Given the description of an element on the screen output the (x, y) to click on. 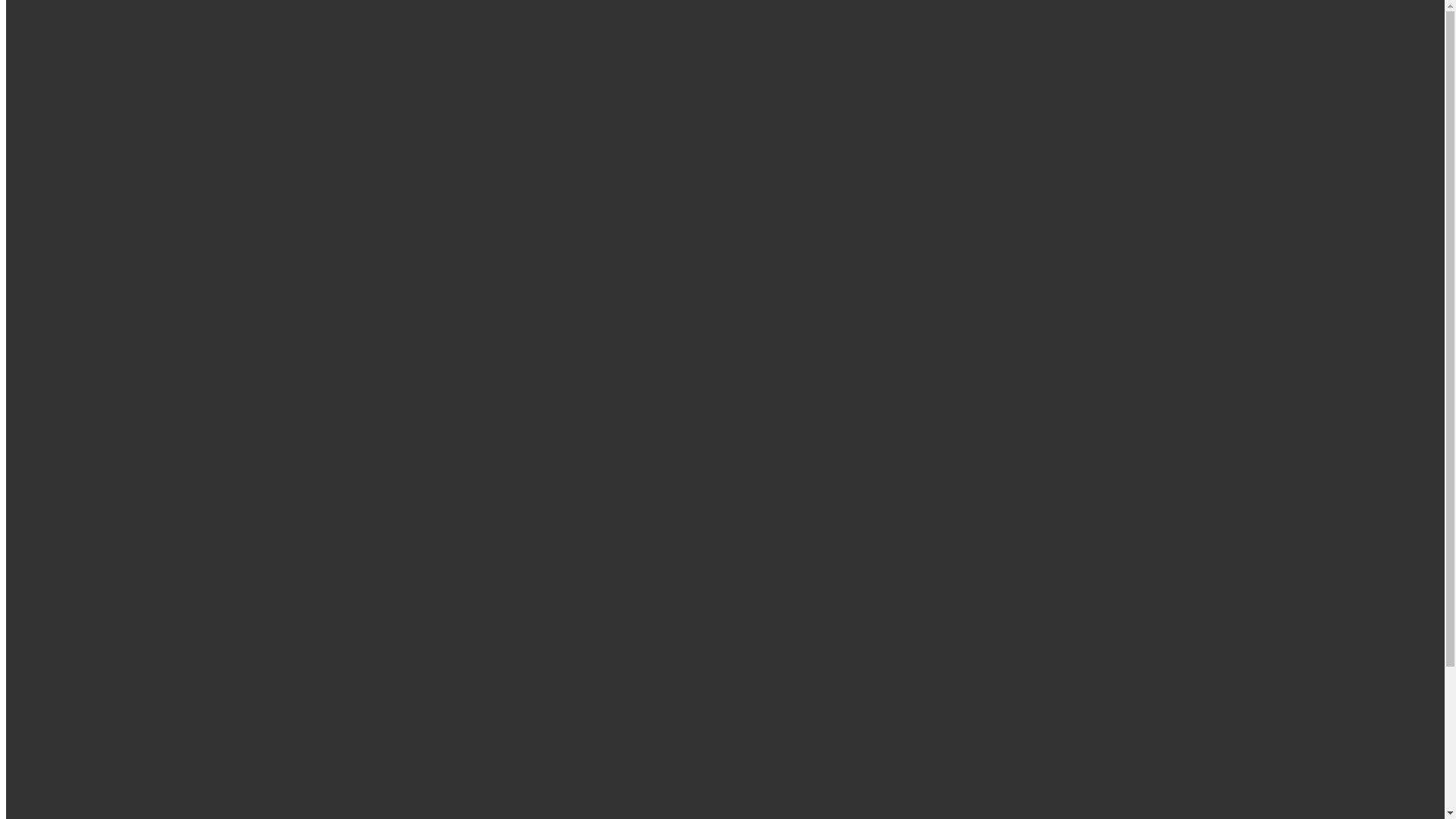
DI Element type: text (72, 280)
ATLAS Element type: text (85, 253)
Skip to main content Element type: text (6, 15)
AGS Element type: text (48, 580)
CERN Accelerating science Element type: text (147, 29)
AGS Element type: text (78, 225)
Subscribe to EP Departmental Secretariat Element type: text (106, 517)
Home Element type: hover (25, 106)
CMS Element type: text (49, 621)
ESE Element type: text (46, 662)
Office Element type: text (20, 491)
Directory Element type: text (59, 80)
Safety Element type: text (51, 417)
SFT Element type: text (76, 348)
CMS Element type: text (79, 266)
ATLAS Element type: text (55, 608)
SME Element type: text (48, 717)
Scientific Activities Element type: text (84, 376)
Phonebook Element type: text (63, 795)
Sign in Element type: text (83, 66)
LHCb Element type: text (51, 676)
DT Element type: text (44, 649)
Organisation Element type: text (67, 212)
Toggle navigation Element type: text (51, 172)
Ep.Secretariat@cern.ch Element type: text (186, 491)
Home Element type: text (50, 198)
Seminars & Colloquia Element type: text (90, 403)
NU Element type: text (44, 690)
ESE Element type: text (76, 307)
SME Element type: text (78, 362)
SFT Element type: text (46, 703)
DI Element type: text (42, 635)
Administration & Services Element type: text (101, 389)
LHCb Element type: text (81, 321)
NU Element type: text (75, 335)
DT Element type: text (74, 294)
ALICE Element type: text (84, 239)
ALICE Element type: text (54, 594)
Admin e-guide Element type: text (72, 781)
